Given the description of an element on the screen output the (x, y) to click on. 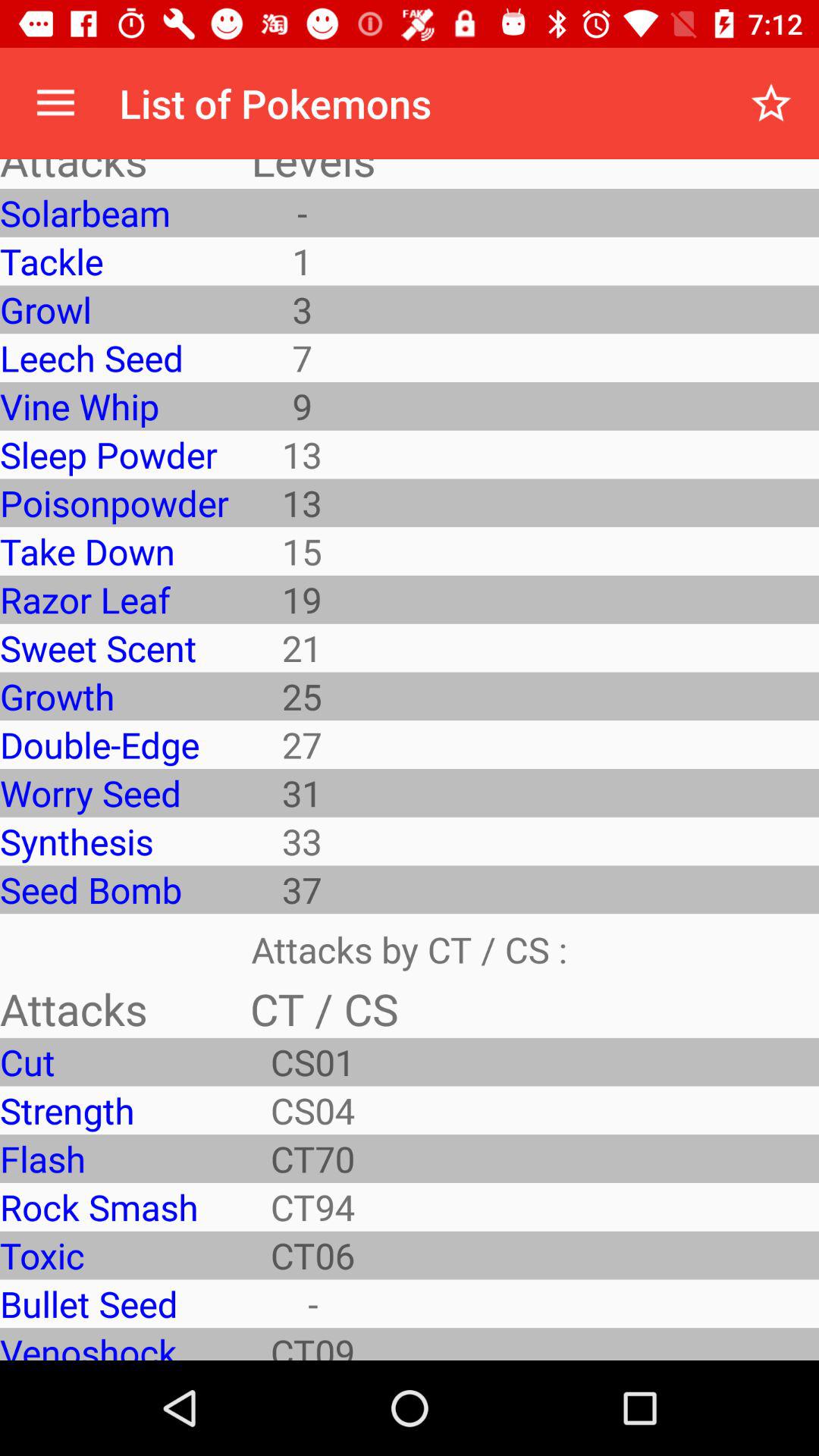
click the item above venoshock app (113, 1303)
